Given the description of an element on the screen output the (x, y) to click on. 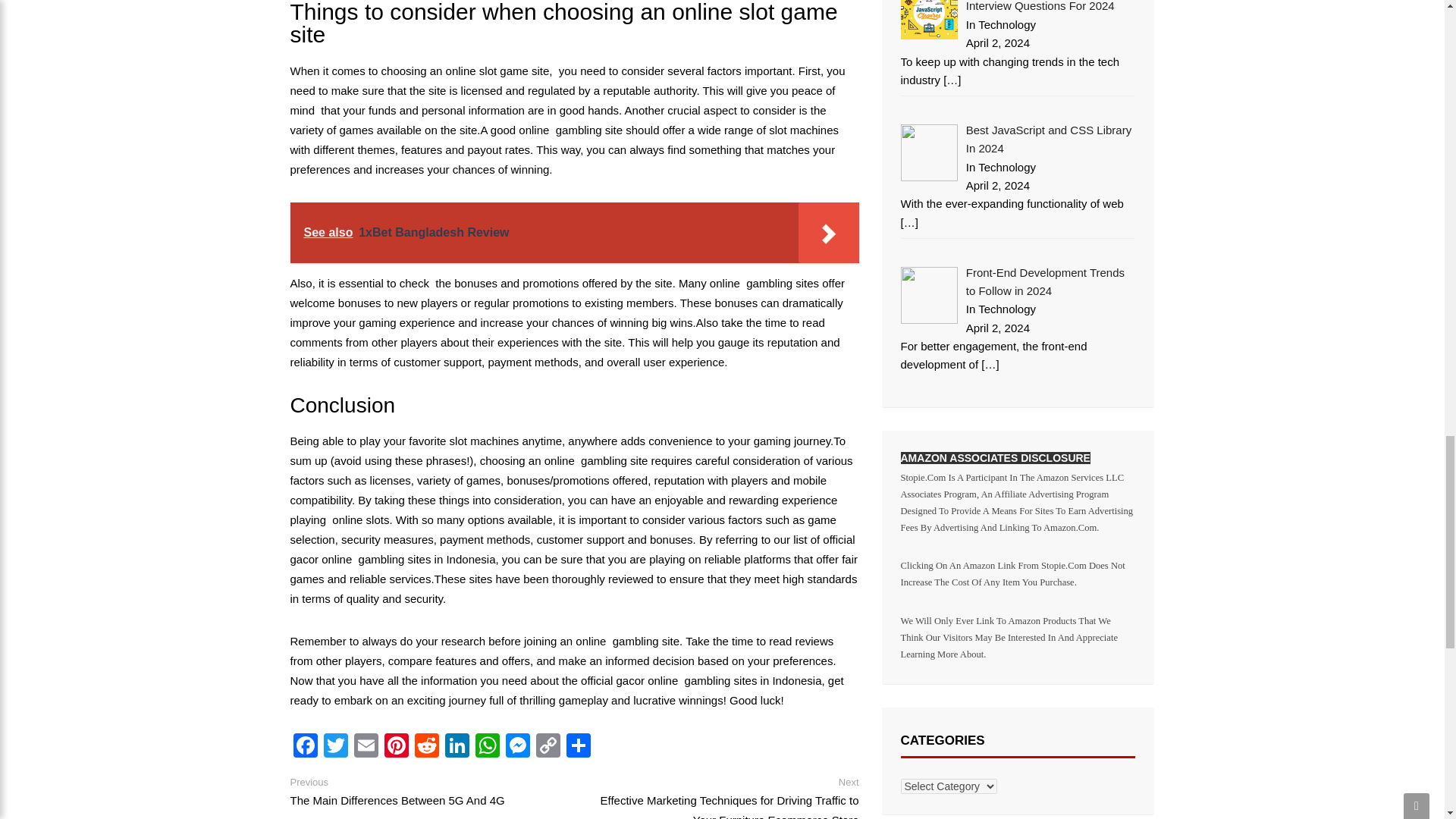
Twitter (335, 747)
Copy Link (547, 747)
Email (365, 747)
Twitter (335, 747)
Pinterest (395, 747)
Reddit (425, 747)
See also  1xBet Bangladesh Review (574, 232)
Facebook (304, 747)
WhatsApp (486, 747)
Messenger (517, 747)
